Given the description of an element on the screen output the (x, y) to click on. 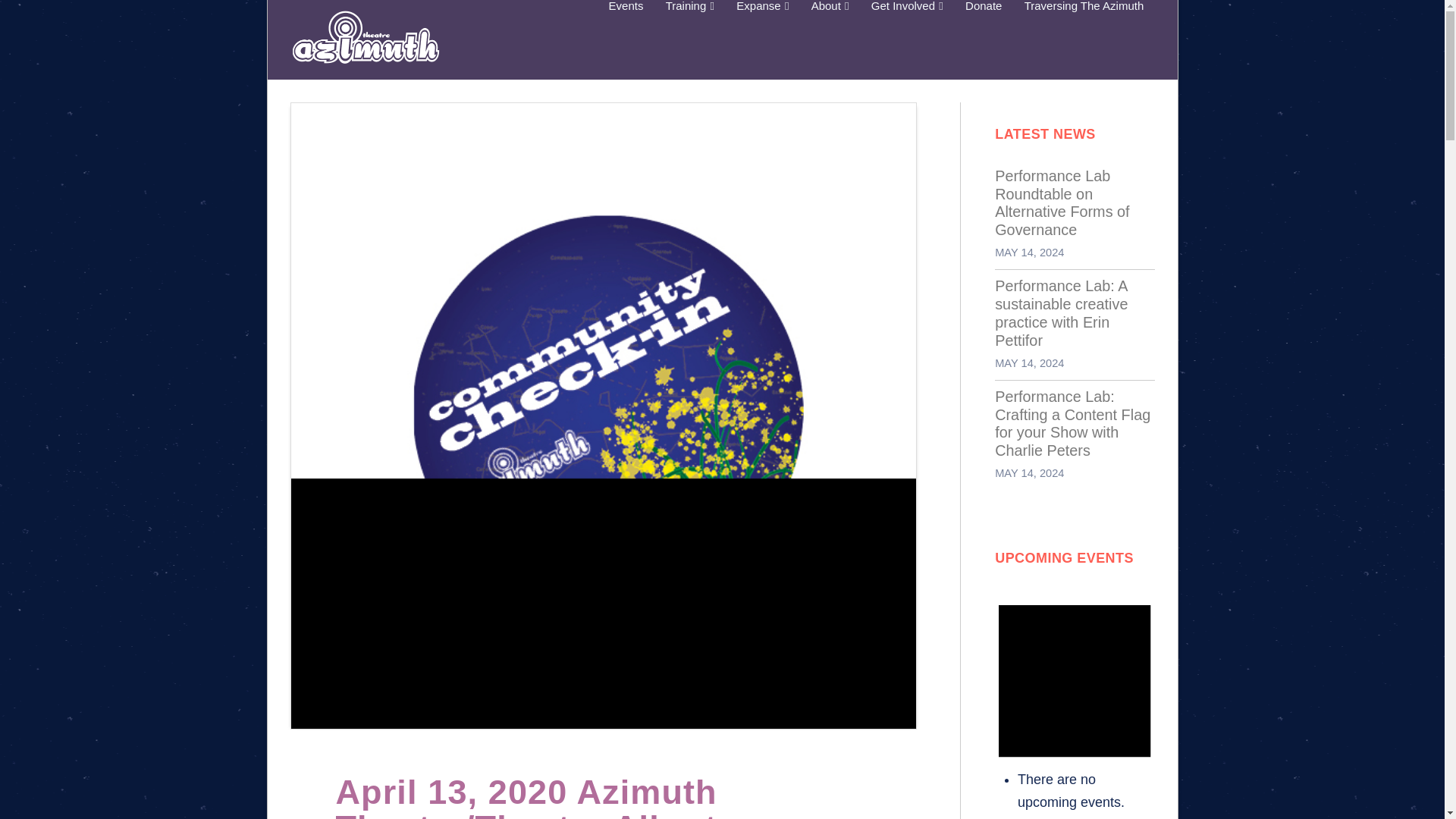
Training (689, 39)
Get Involved (906, 39)
Traversing The Azimuth (1083, 39)
Expanse (762, 39)
